Given the description of an element on the screen output the (x, y) to click on. 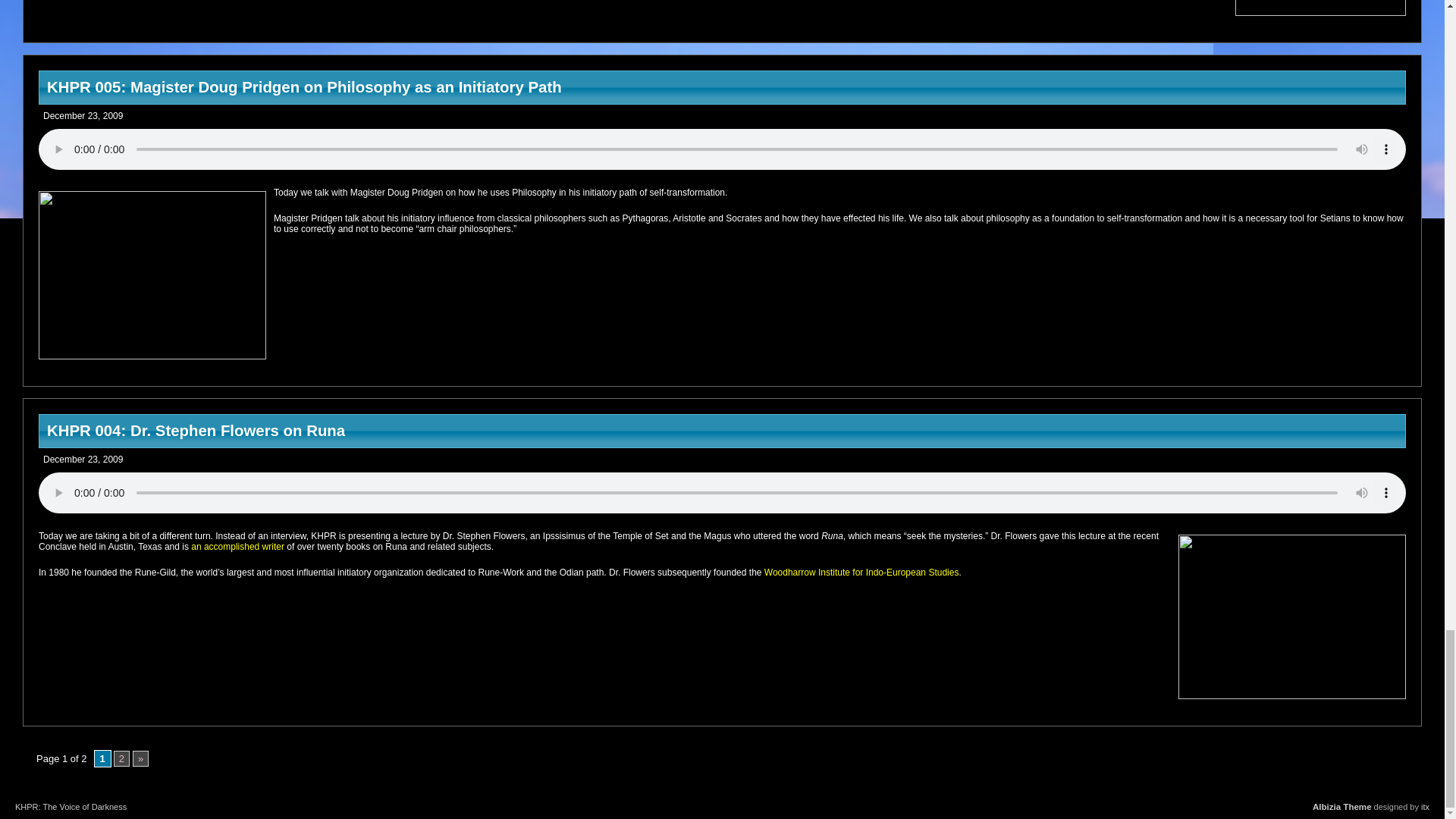
itx (1425, 806)
Albizia Theme (1342, 806)
2 (121, 758)
KHPR: The Voice of Darkness (70, 806)
2 (121, 758)
an accomplished writer (236, 546)
KHPR 004: Dr. Stephen Flowers on Runa (722, 430)
Woodharrow Institute for Indo-European Studies (861, 572)
